Given the description of an element on the screen output the (x, y) to click on. 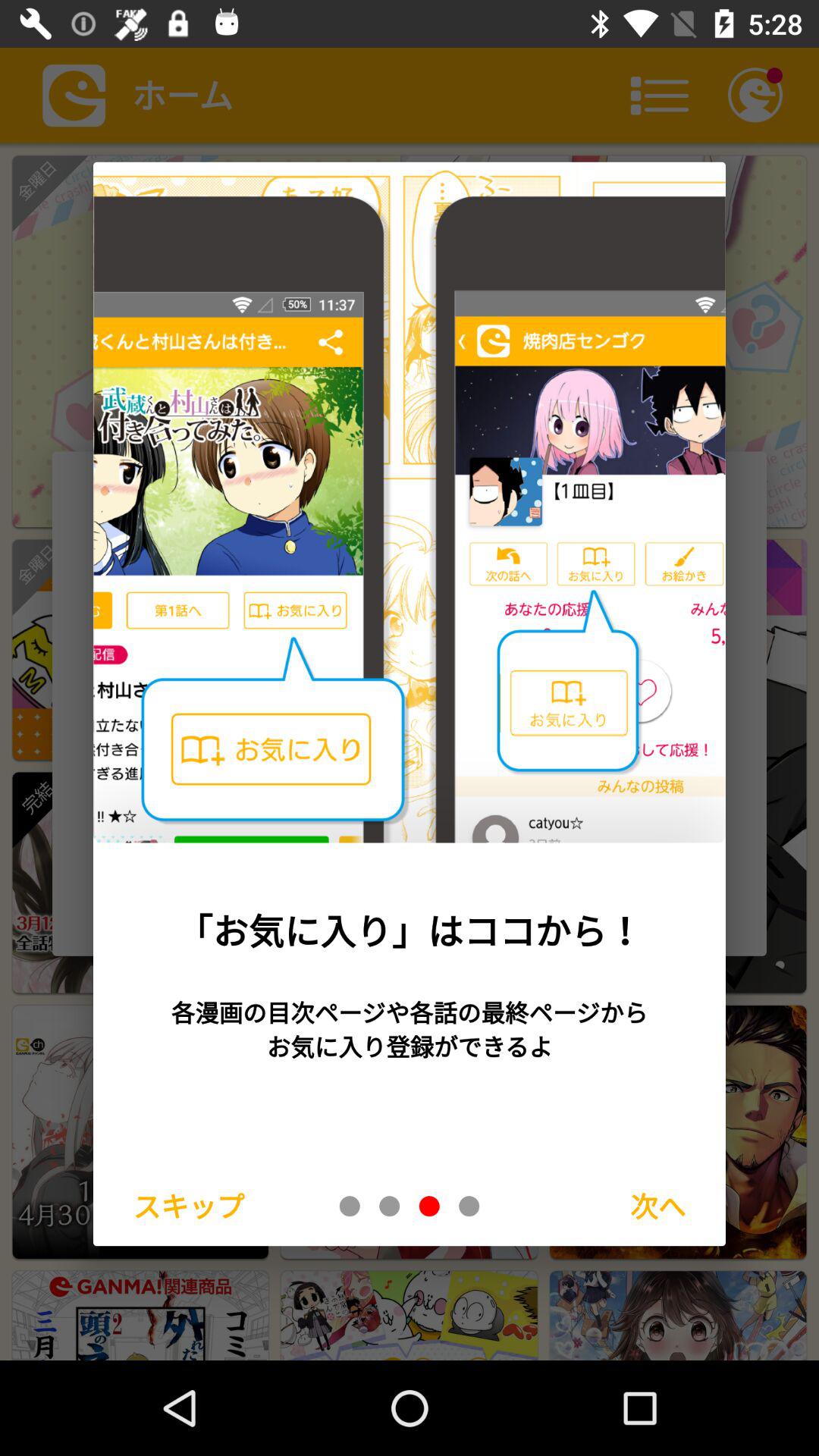
next page view (469, 1206)
